Given the description of an element on the screen output the (x, y) to click on. 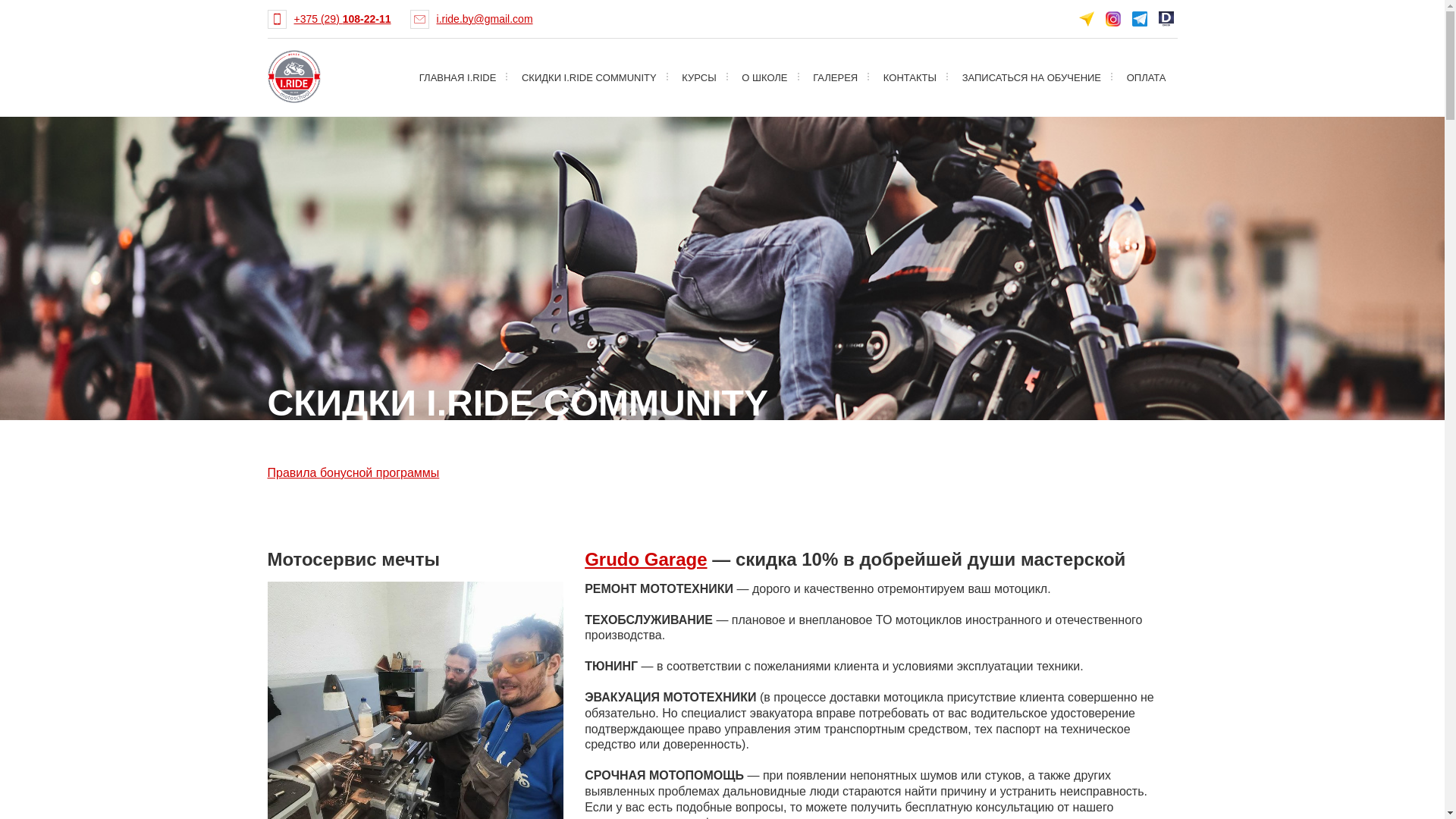
Grudo Garage Element type: text (645, 559)
+375 (29) 108-22-11 Element type: text (342, 18)
i.ride.by@gmail.com Element type: text (484, 18)
